Given the description of an element on the screen output the (x, y) to click on. 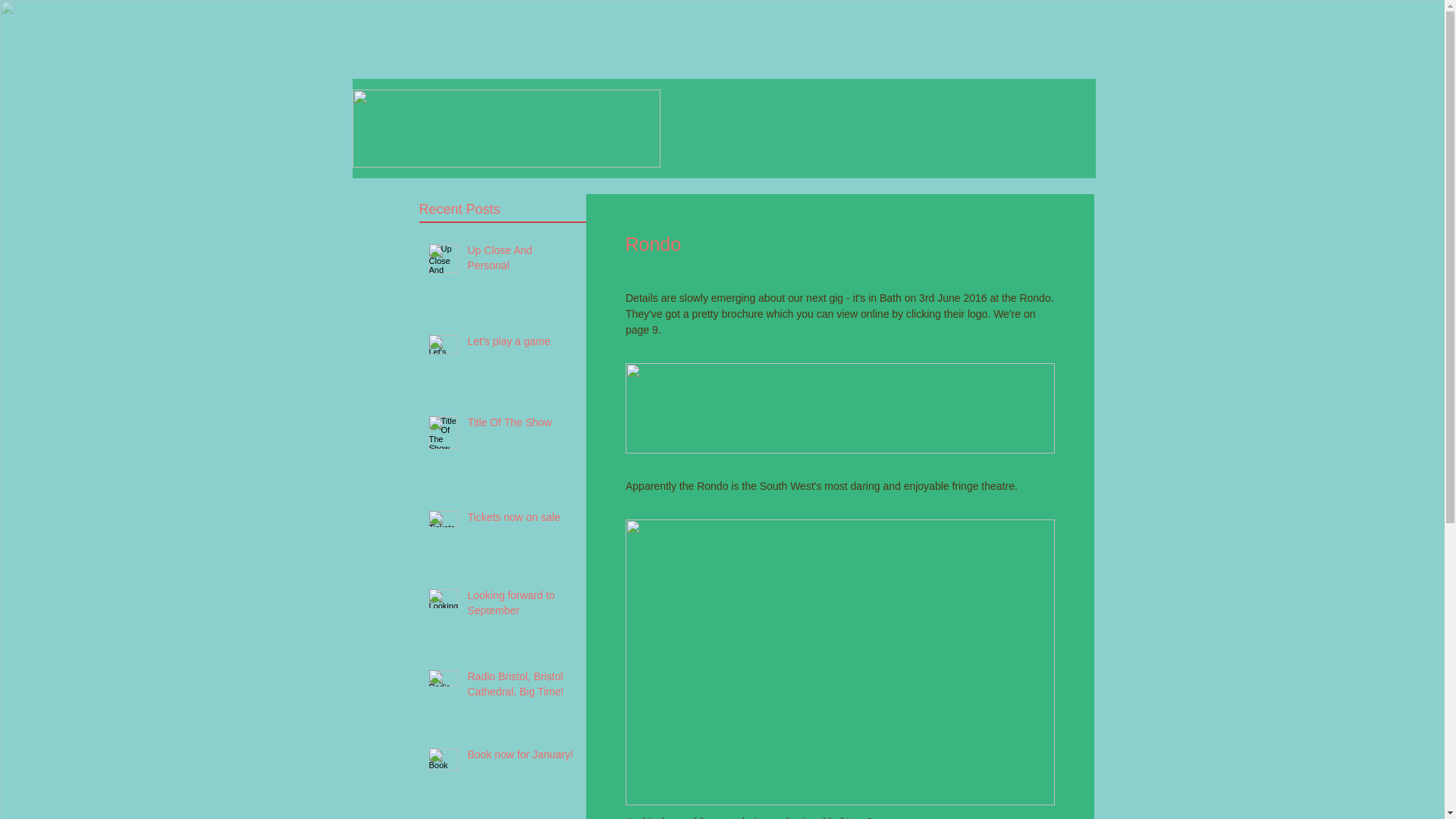
Title Of The Show (521, 425)
Let's play a game. (521, 344)
Looking forward to September (521, 606)
Up Close And Personal (521, 261)
Logo cutout.png (505, 128)
Radio Bristol, Bristol Cathedral, Big Time! (521, 687)
Tickets now on sale (521, 520)
Book now for January! (521, 758)
